Given the description of an element on the screen output the (x, y) to click on. 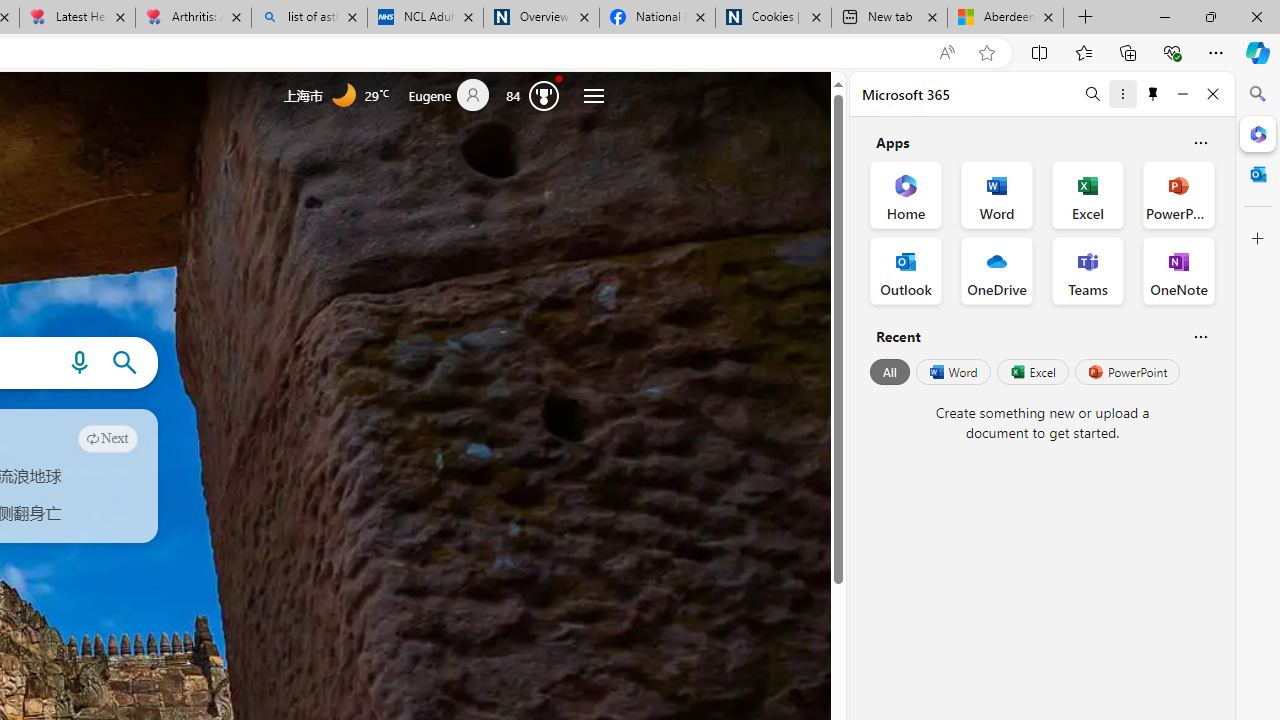
PowerPoint Office App (1178, 194)
Is this helpful? (1200, 336)
Settings and quick links (594, 95)
OneNote Office App (1178, 270)
OneDrive Office App (996, 270)
Outlook Office App (906, 270)
